Given the description of an element on the screen output the (x, y) to click on. 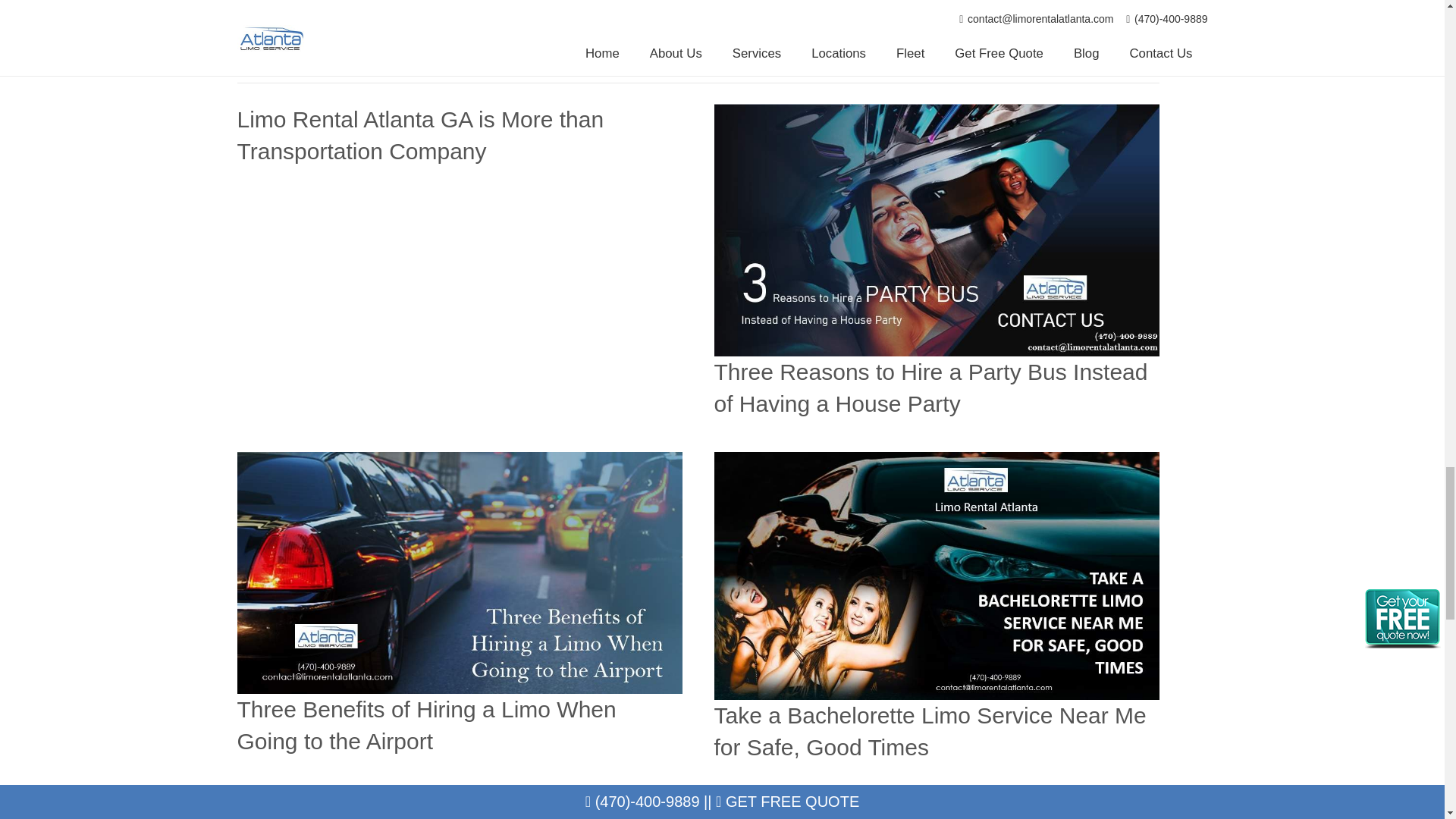
Limo Rental Atlanta GA is More than Transportation Company (419, 135)
